Given the description of an element on the screen output the (x, y) to click on. 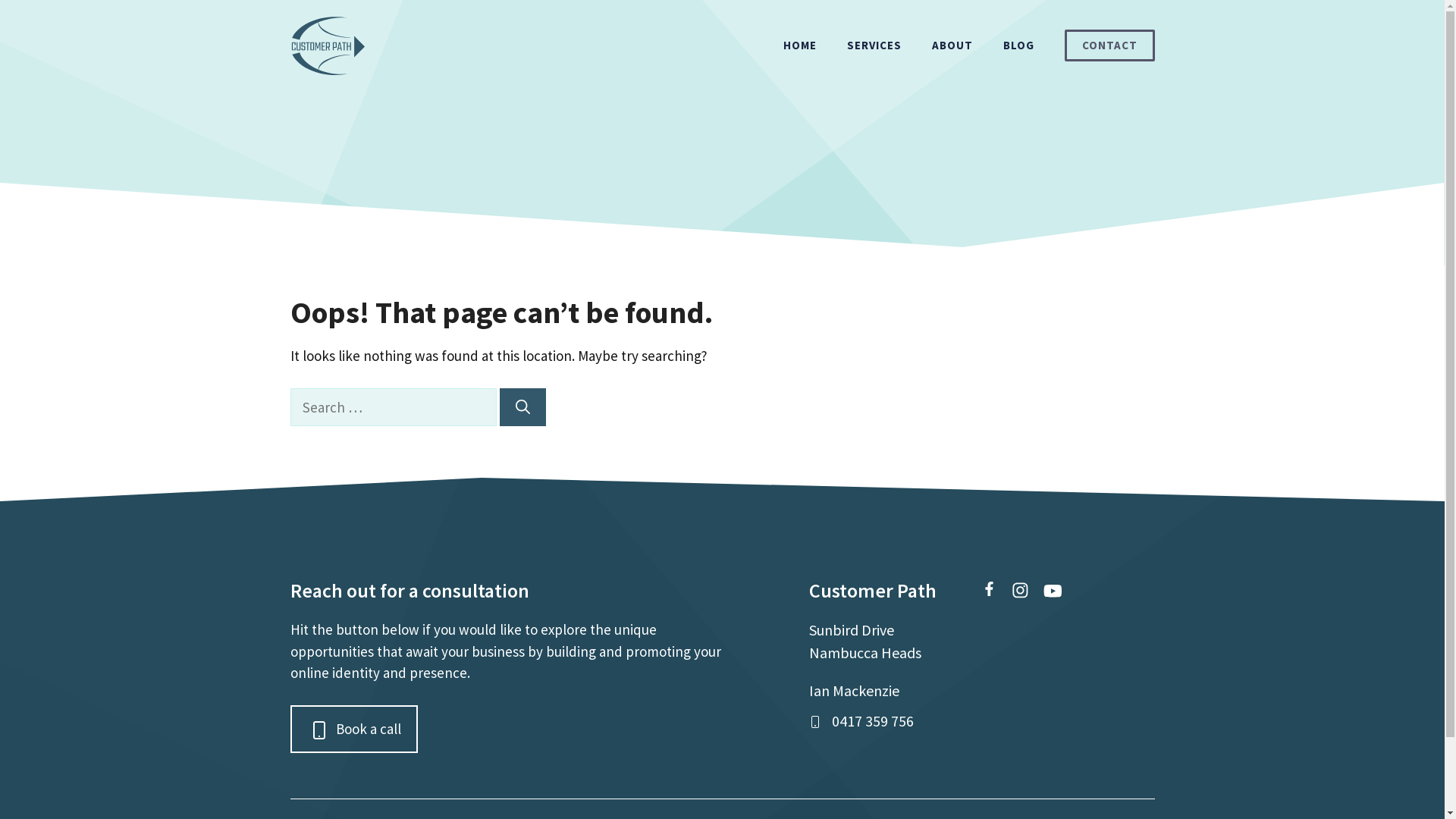
CONTACT Element type: text (1109, 45)
0417 359 756 Element type: text (872, 720)
BLOG Element type: text (1017, 45)
HOME Element type: text (799, 45)
Book a call Element type: text (353, 729)
SERVICES Element type: text (873, 45)
Search for: Element type: hover (392, 407)
ABOUT Element type: text (951, 45)
